Given the description of an element on the screen output the (x, y) to click on. 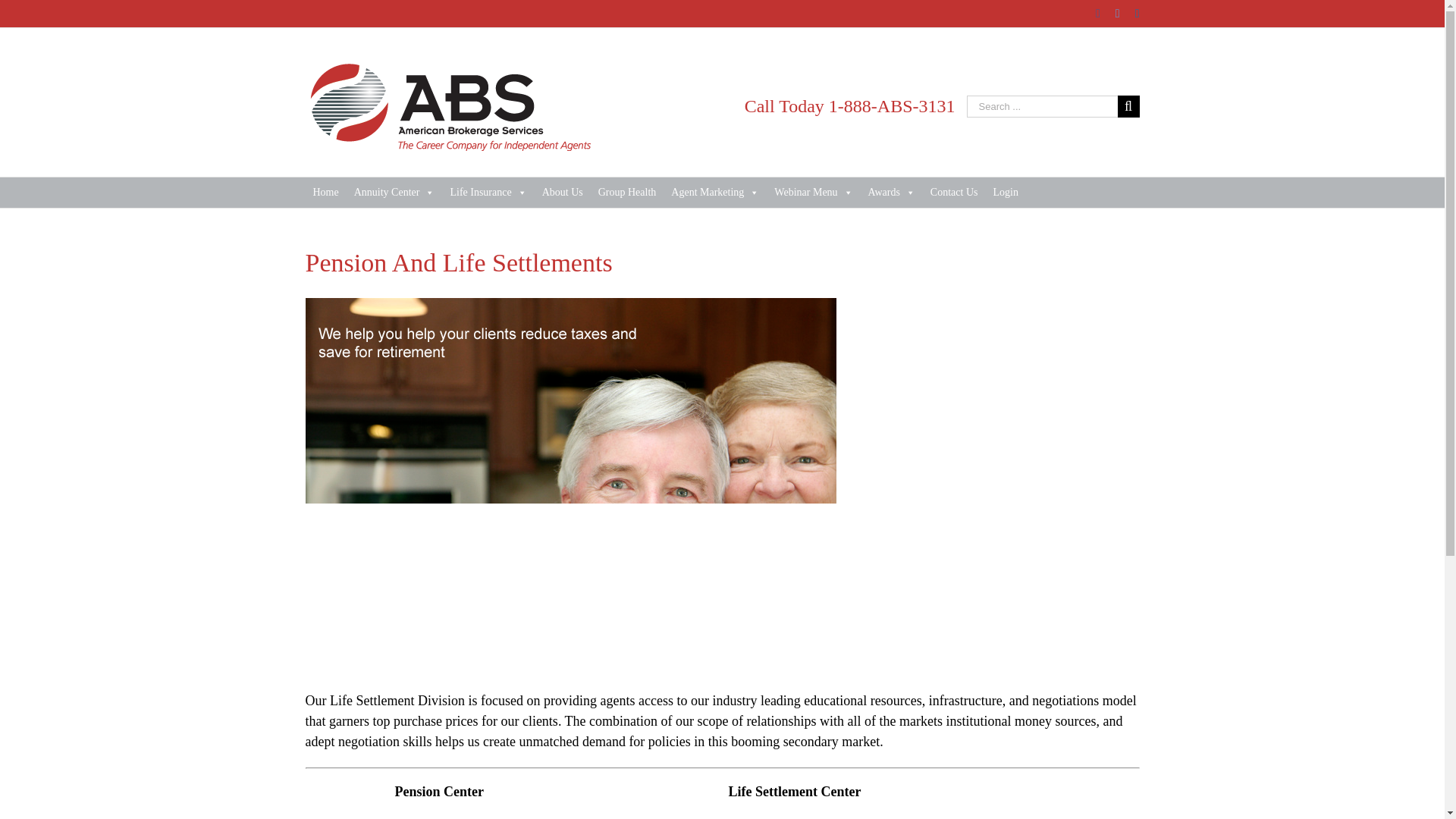
Annuity Center (394, 192)
Life Insurance (488, 192)
Home (325, 192)
